Given the description of an element on the screen output the (x, y) to click on. 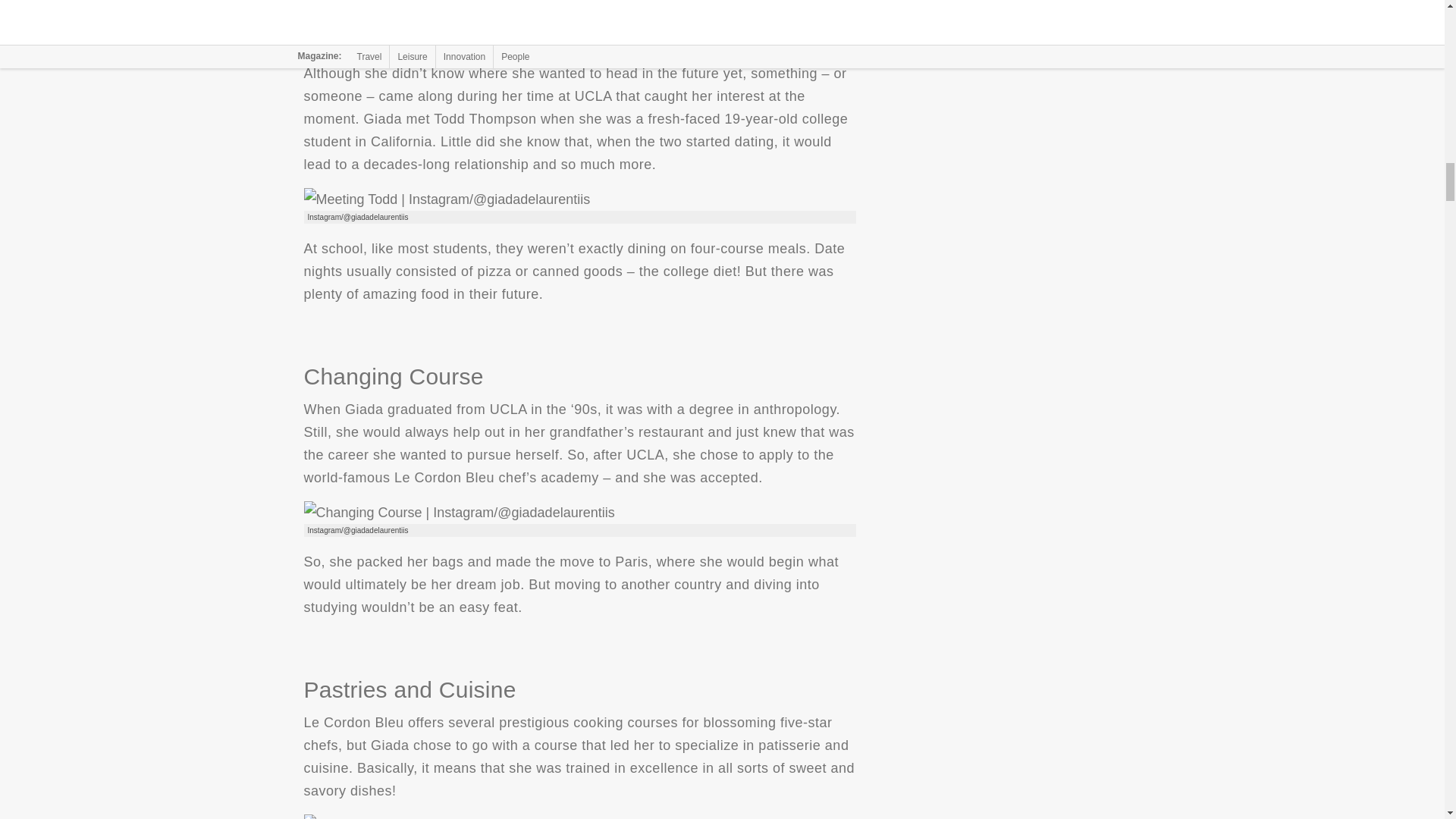
Changing Course (458, 511)
Meeting Todd (445, 199)
